Given the description of an element on the screen output the (x, y) to click on. 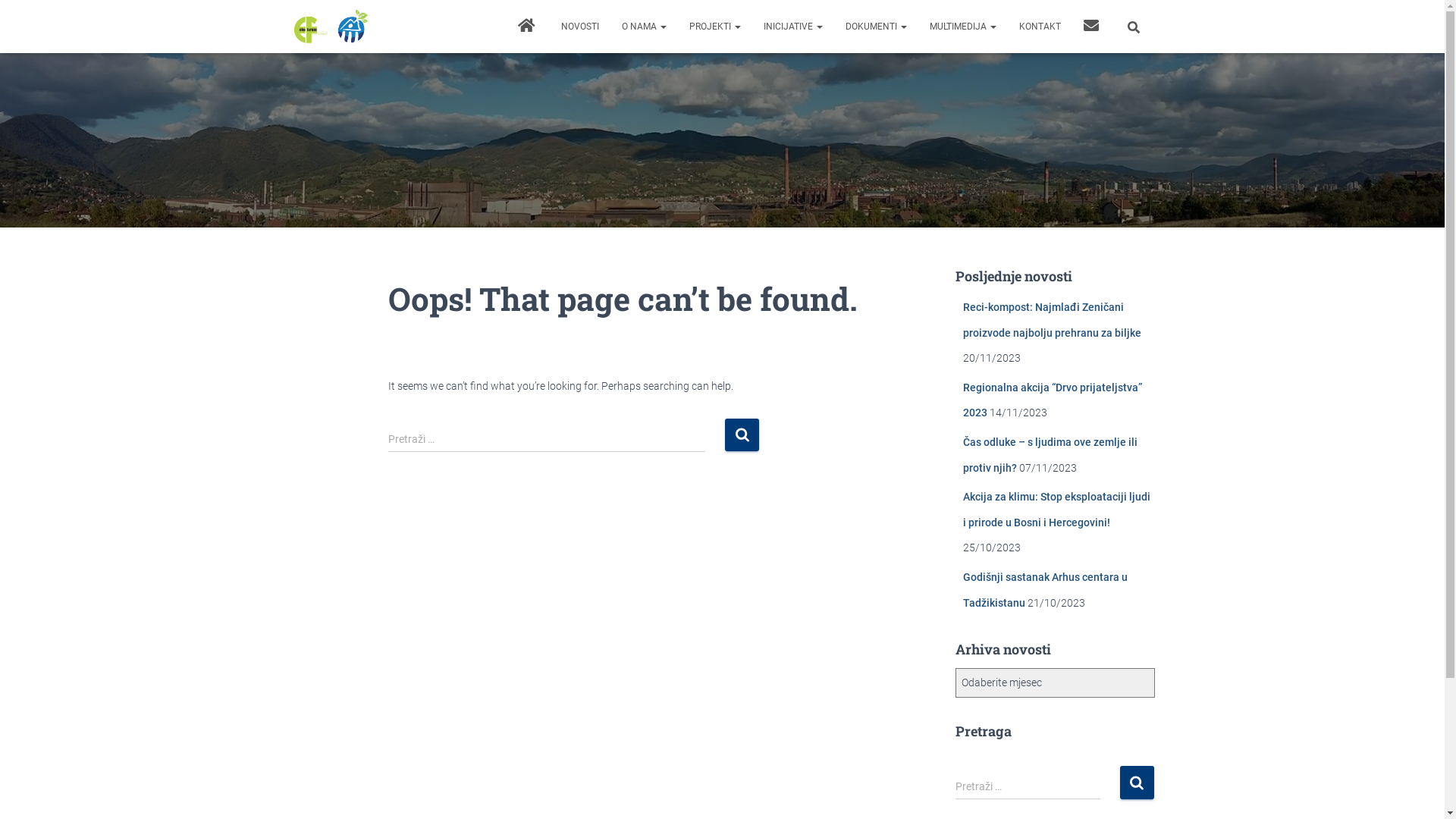
O NAMA Element type: text (643, 26)
Pretraga Element type: text (741, 434)
Pretraga Element type: text (3, 16)
DOKUMENTI Element type: text (876, 26)
MULTIMEDIJA Element type: text (962, 26)
KONTAKT Element type: text (1039, 26)
Eko Forum Zenica Element type: hover (331, 26)
PROJEKTI Element type: text (714, 26)
INICIJATIVE Element type: text (793, 26)
NOVOSTI Element type: text (579, 26)
Pretraga Element type: text (1136, 781)
